Given the description of an element on the screen output the (x, y) to click on. 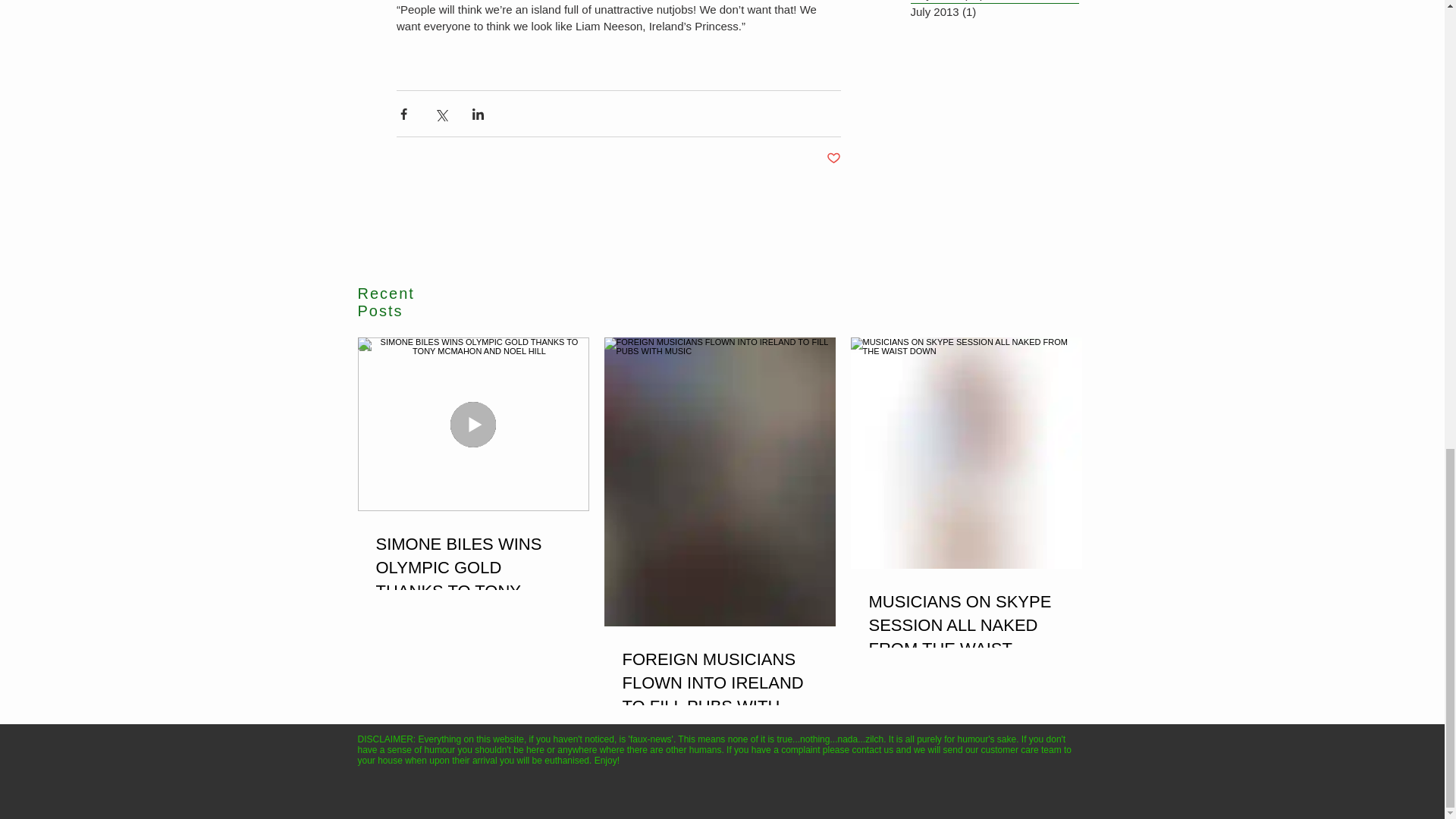
Post not marked as liked (834, 158)
